Given the description of an element on the screen output the (x, y) to click on. 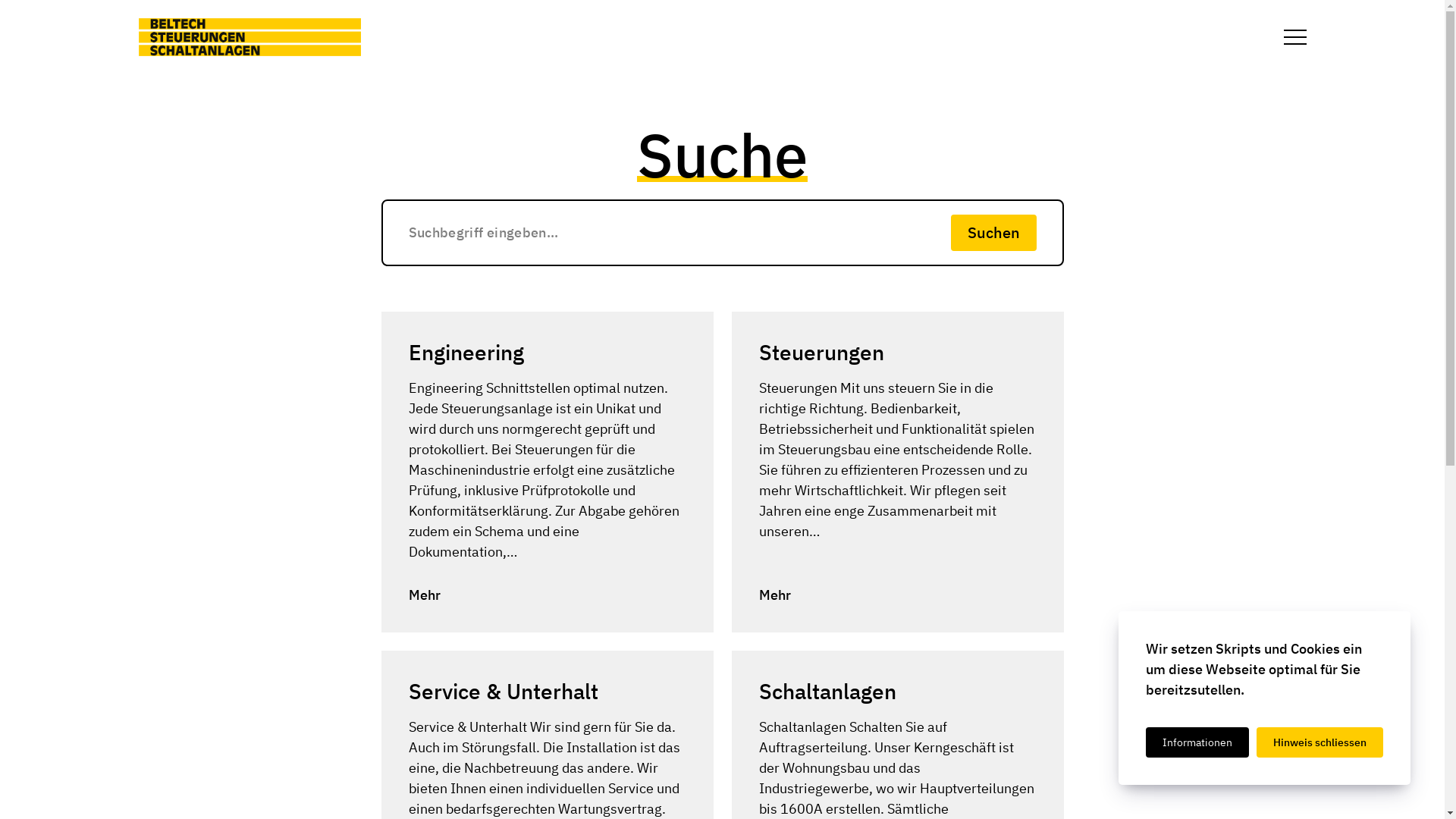
Hinweis schliessen Element type: text (1319, 742)
Suchen Element type: text (993, 232)
Toggle Menu Element type: text (1295, 36)
Informationen Element type: text (1196, 742)
